Given the description of an element on the screen output the (x, y) to click on. 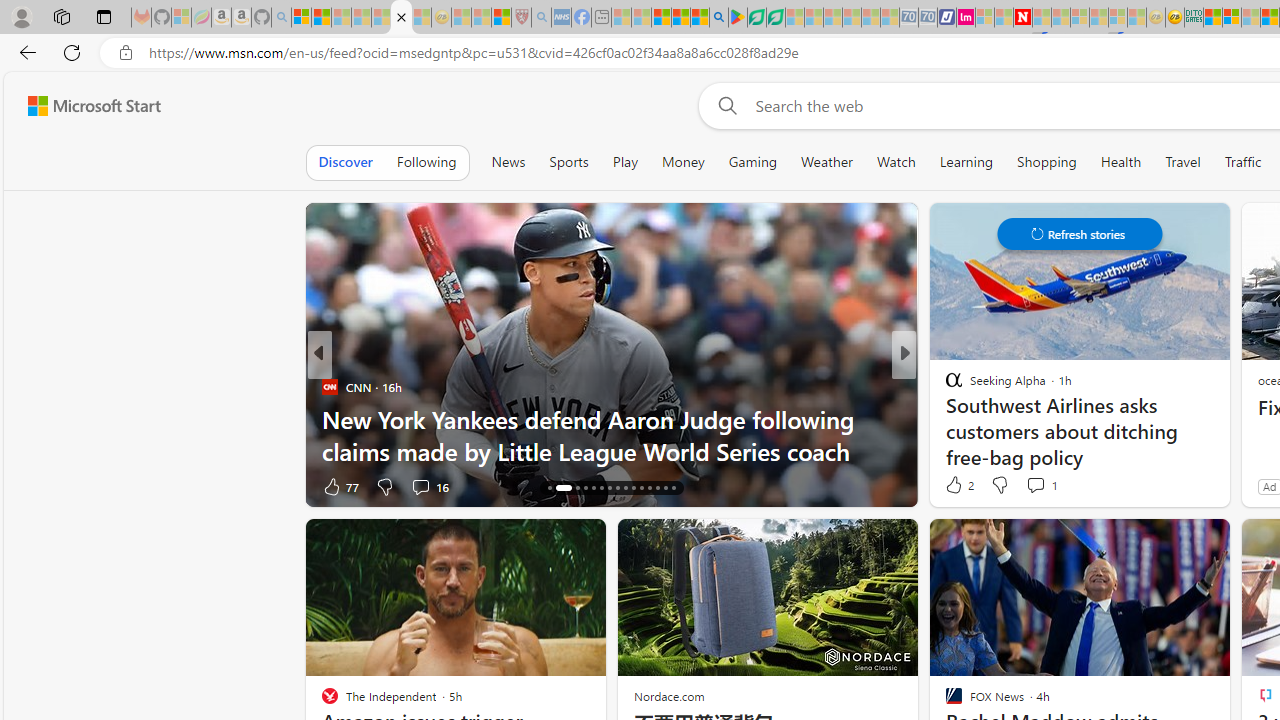
Terms of Use Agreement (756, 17)
16 Like (956, 486)
Inverse (944, 386)
51 Like (956, 486)
AutomationID: tab-25 (632, 487)
View comments 7 Comment (1048, 486)
AutomationID: tab-27 (649, 487)
View comments 4 Comment (1048, 486)
